Given the description of an element on the screen output the (x, y) to click on. 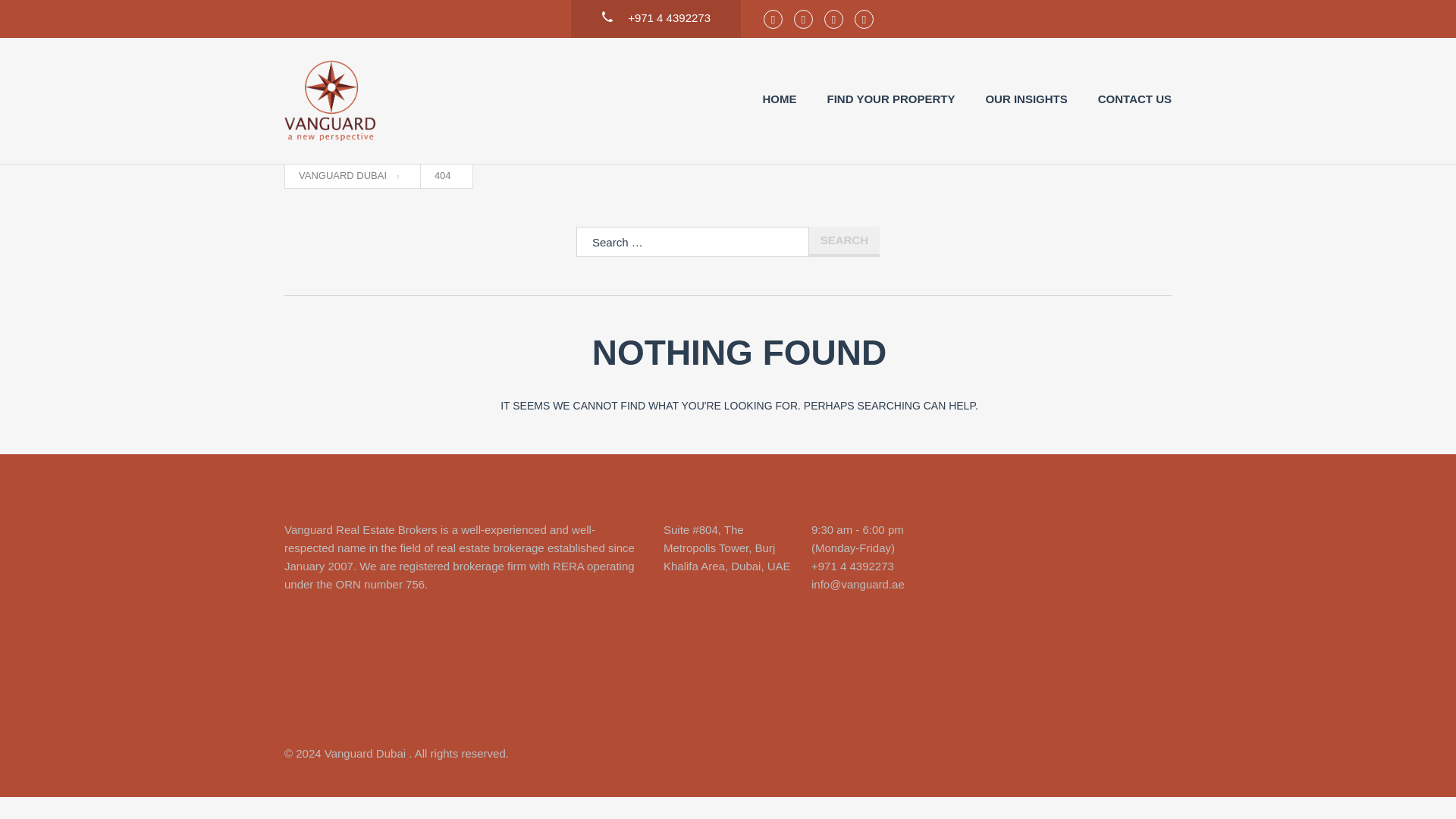
HOME (779, 99)
Search (844, 241)
Go to Vanguard Dubai . (348, 176)
CONTACT US (1134, 99)
FIND YOUR PROPERTY (891, 99)
Search (844, 241)
Search (844, 241)
Vanguard Dubai  (329, 100)
VANGUARD DUBAI (348, 176)
Go to 404. (442, 176)
